Given the description of an element on the screen output the (x, y) to click on. 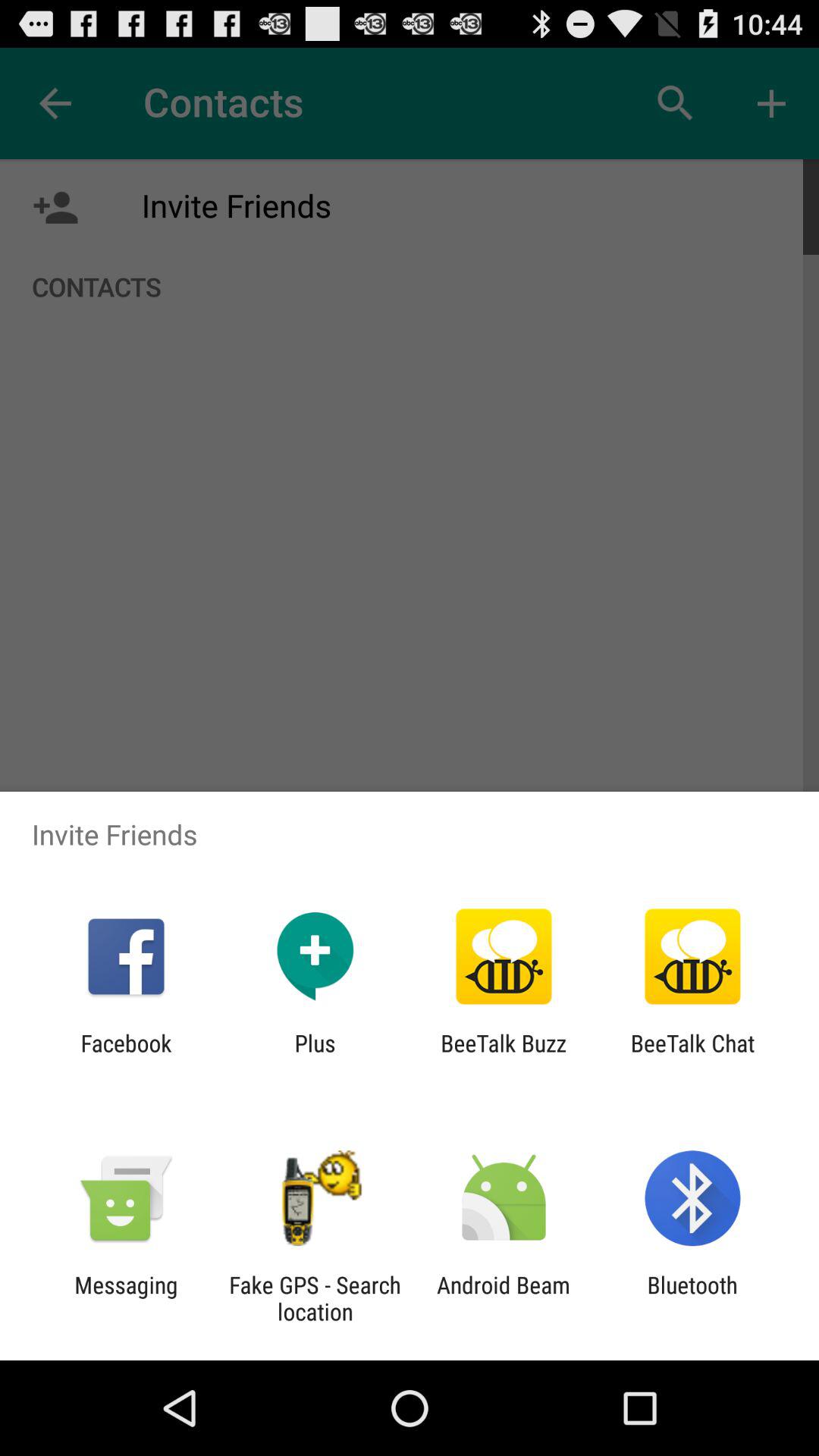
open the messaging icon (126, 1298)
